Given the description of an element on the screen output the (x, y) to click on. 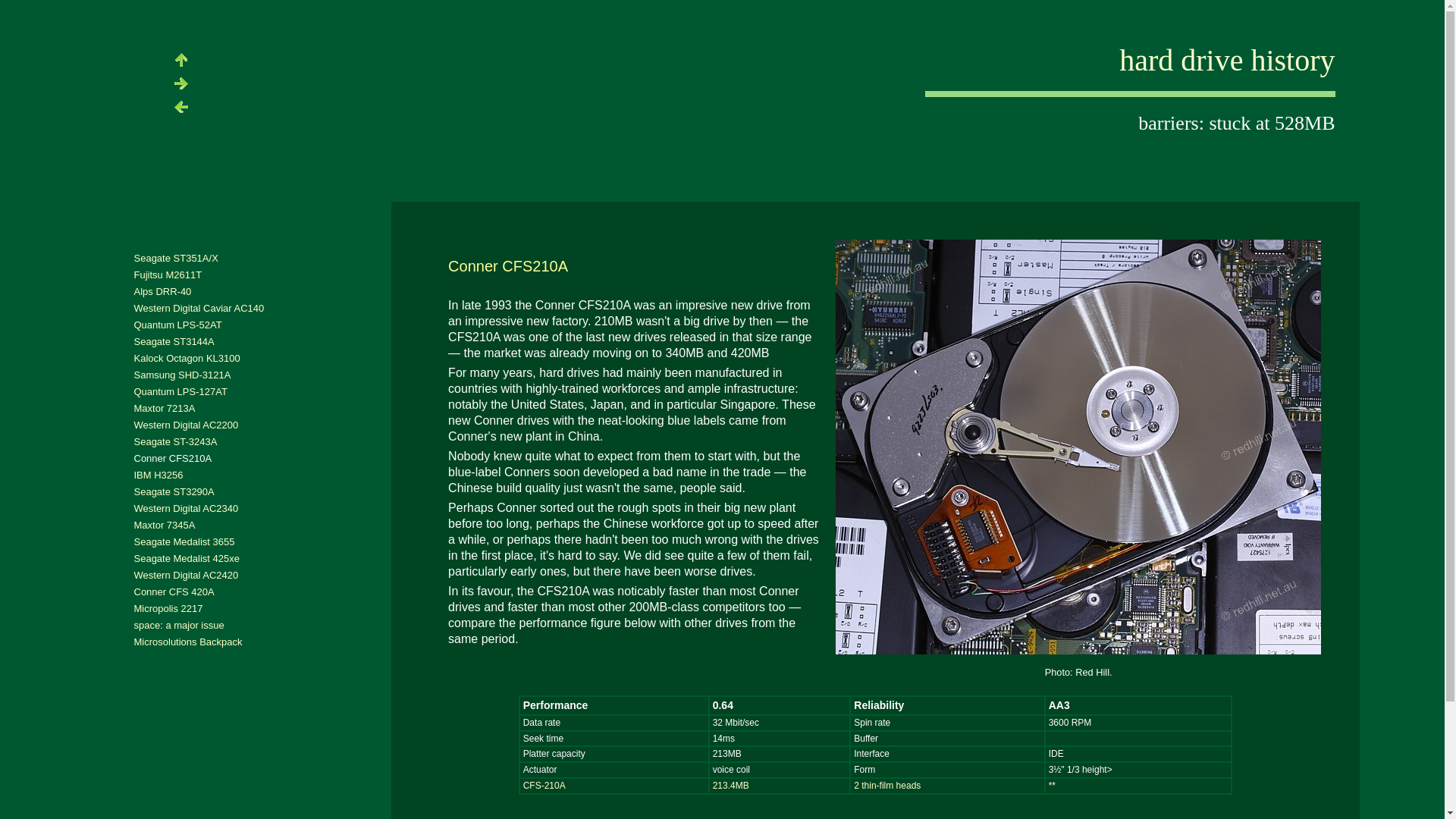
Seagate ST3144A Element type: text (173, 341)
Samsung SHD-3121A Element type: text (181, 374)
Western Digital Caviar AC140 Element type: text (198, 307)
Quantum LPS-52AT Element type: text (177, 324)
Seagate Medalist 425xe Element type: text (185, 558)
Alps DRR-40 Element type: text (162, 291)
Seagate ST351A/X Element type: text (175, 257)
Western Digital AC2420 Element type: text (185, 574)
Kalock Octagon KL3100 Element type: text (186, 358)
Seagate ST-3243A Element type: text (174, 441)
Fujitsu M2611T Element type: text (167, 274)
Seagate Medalist 3655 Element type: text (183, 541)
Microsolutions Backpack Element type: text (187, 641)
IBM H3256 Element type: text (157, 474)
space: a major issue Element type: text (178, 624)
Western Digital AC2340 Element type: text (185, 508)
Micropolis 2217 Element type: text (167, 608)
Western Digital AC2200 Element type: text (185, 424)
Quantum LPS-127AT Element type: text (179, 391)
Conner CFS 420A Element type: text (173, 591)
Seagate ST3290A Element type: text (173, 491)
Maxtor 7213A Element type: text (163, 408)
Maxtor 7345A Element type: text (163, 524)
hard drive history Element type: text (1226, 60)
